Given the description of an element on the screen output the (x, y) to click on. 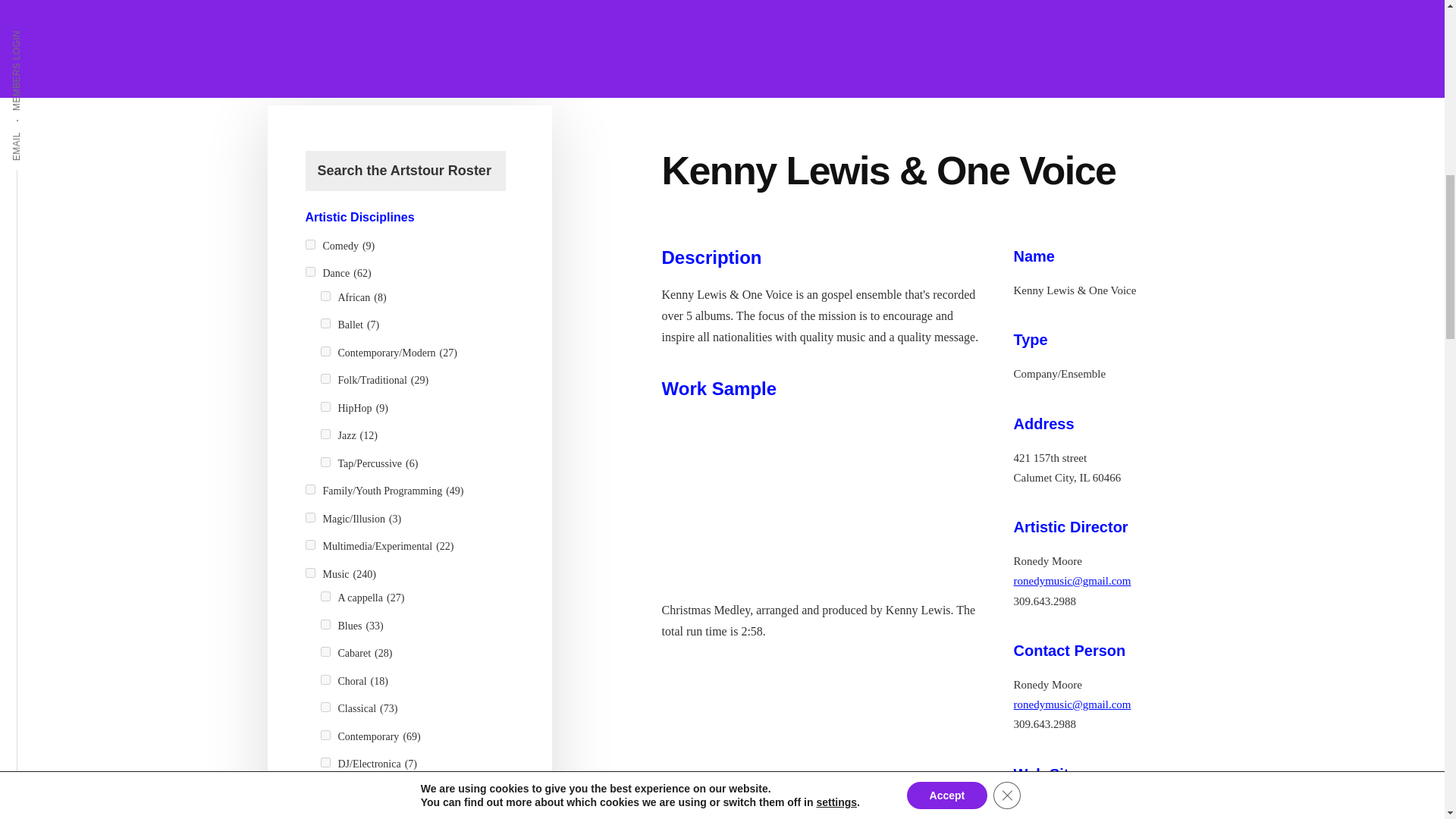
dance (309, 271)
family-youth-programming (309, 489)
contemporary-modern (325, 351)
blues (325, 624)
comedy (309, 244)
music (309, 573)
jazz (325, 433)
contemporary (325, 735)
magic-illusion (309, 517)
classical (325, 706)
tap-percussive (325, 461)
cabaret (325, 651)
ballet (325, 323)
hiphop (325, 406)
folk-traditional (325, 378)
